Given the description of an element on the screen output the (x, y) to click on. 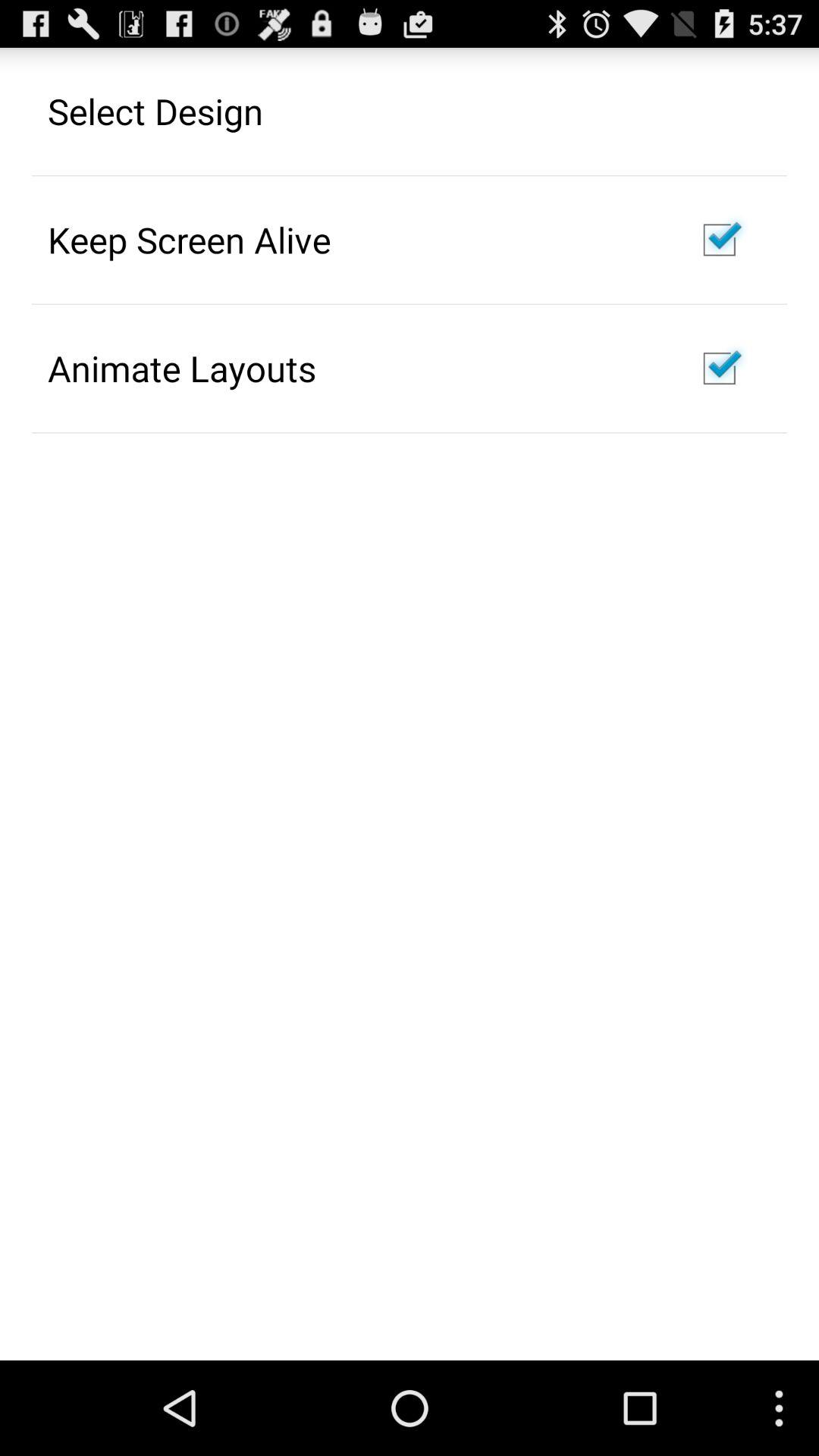
turn on animate layouts item (181, 368)
